Given the description of an element on the screen output the (x, y) to click on. 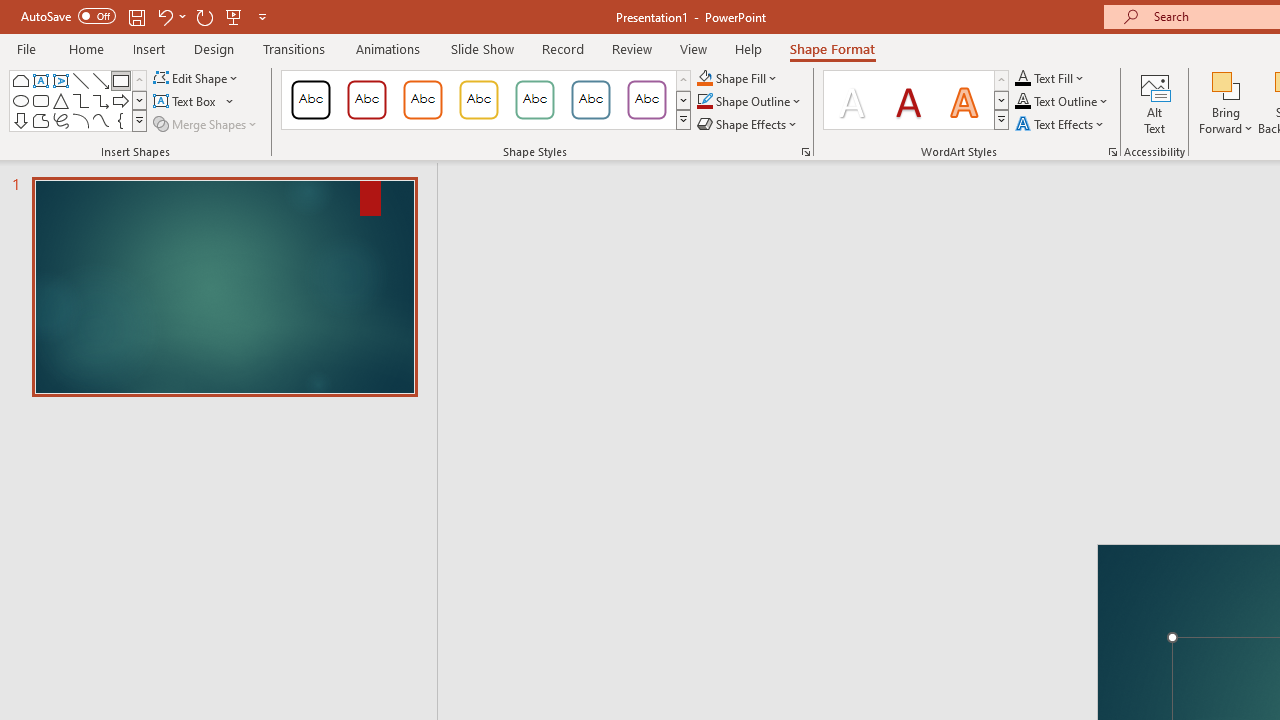
Colored Outline - Green, Accent 4 (534, 100)
Shape Outline Blue, Accent 1 (704, 101)
Rectangle: Rounded Corners (40, 100)
From Beginning (234, 15)
Text Box (194, 101)
Shape Outline (749, 101)
Vertical Text Box (60, 80)
Design (214, 48)
Alt Text (1155, 102)
Shape Format (832, 48)
AutoSave (68, 16)
Arc (80, 120)
Connector: Elbow (80, 100)
